Given the description of an element on the screen output the (x, y) to click on. 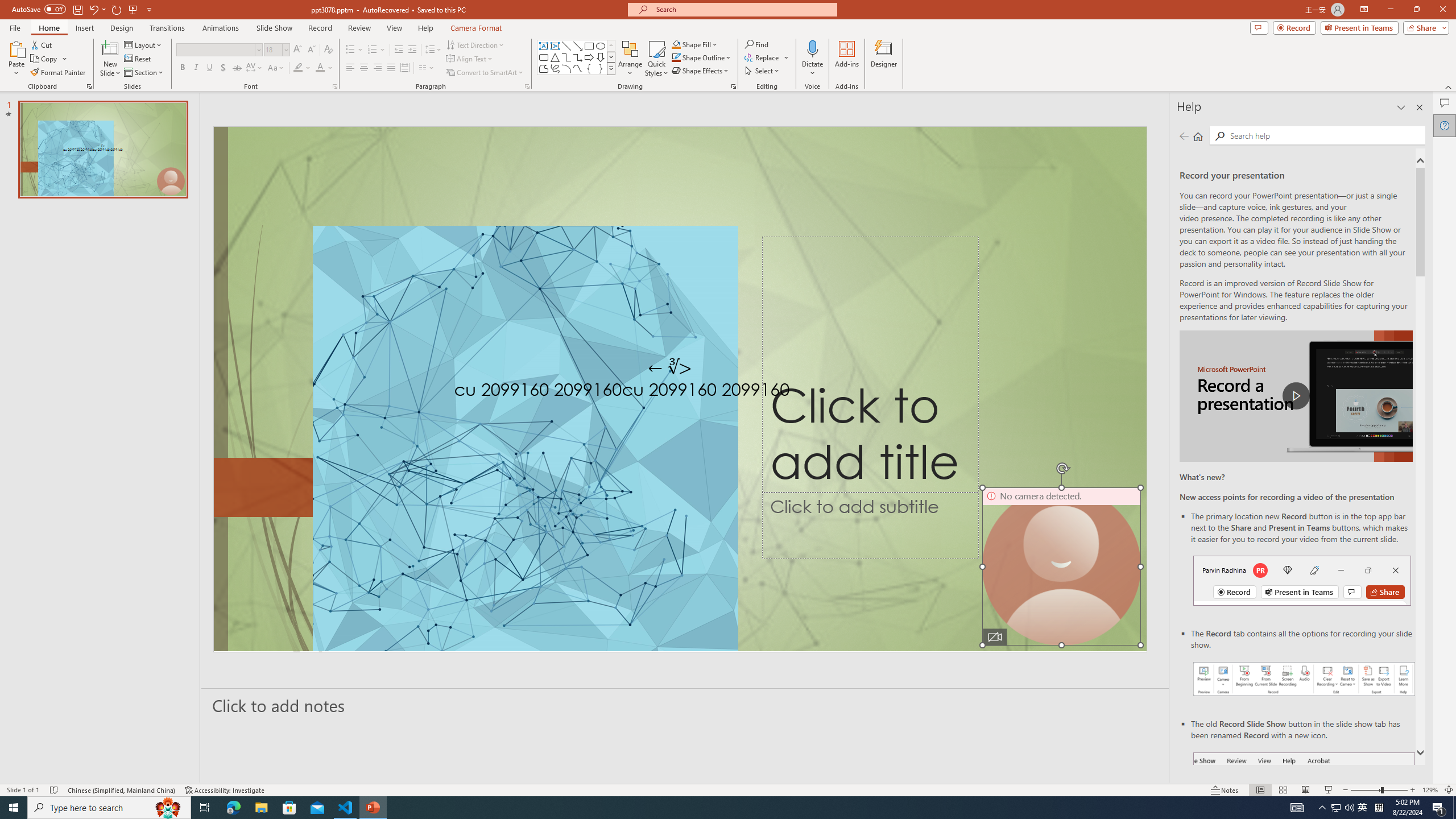
Restore Down (1416, 9)
Search (1219, 136)
Oval (600, 45)
play Record a Presentation (1296, 395)
Left Brace (589, 68)
Subtitle TextBox (869, 525)
Shadow (223, 67)
Font (215, 49)
Copy (49, 58)
Line Spacing (433, 49)
Increase Indent (412, 49)
Class: MsoCommandBar (728, 789)
Font Color (324, 67)
Review (359, 28)
